Given the description of an element on the screen output the (x, y) to click on. 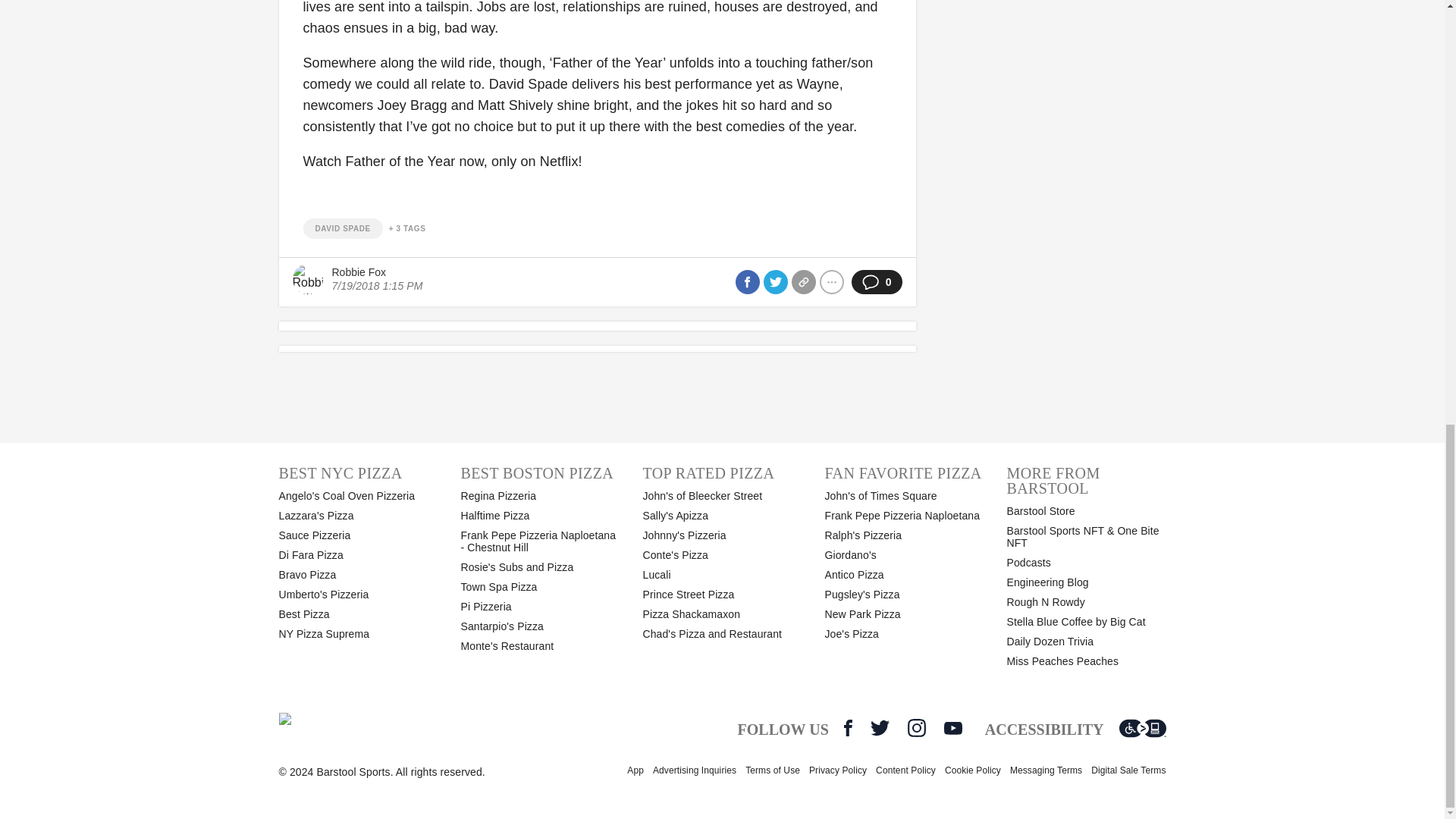
Facebook Icon (847, 728)
Instagram Icon (916, 728)
YouTube Icon (952, 728)
Twitter Icon (879, 728)
Level Access website accessibility icon (1142, 728)
